Given the description of an element on the screen output the (x, y) to click on. 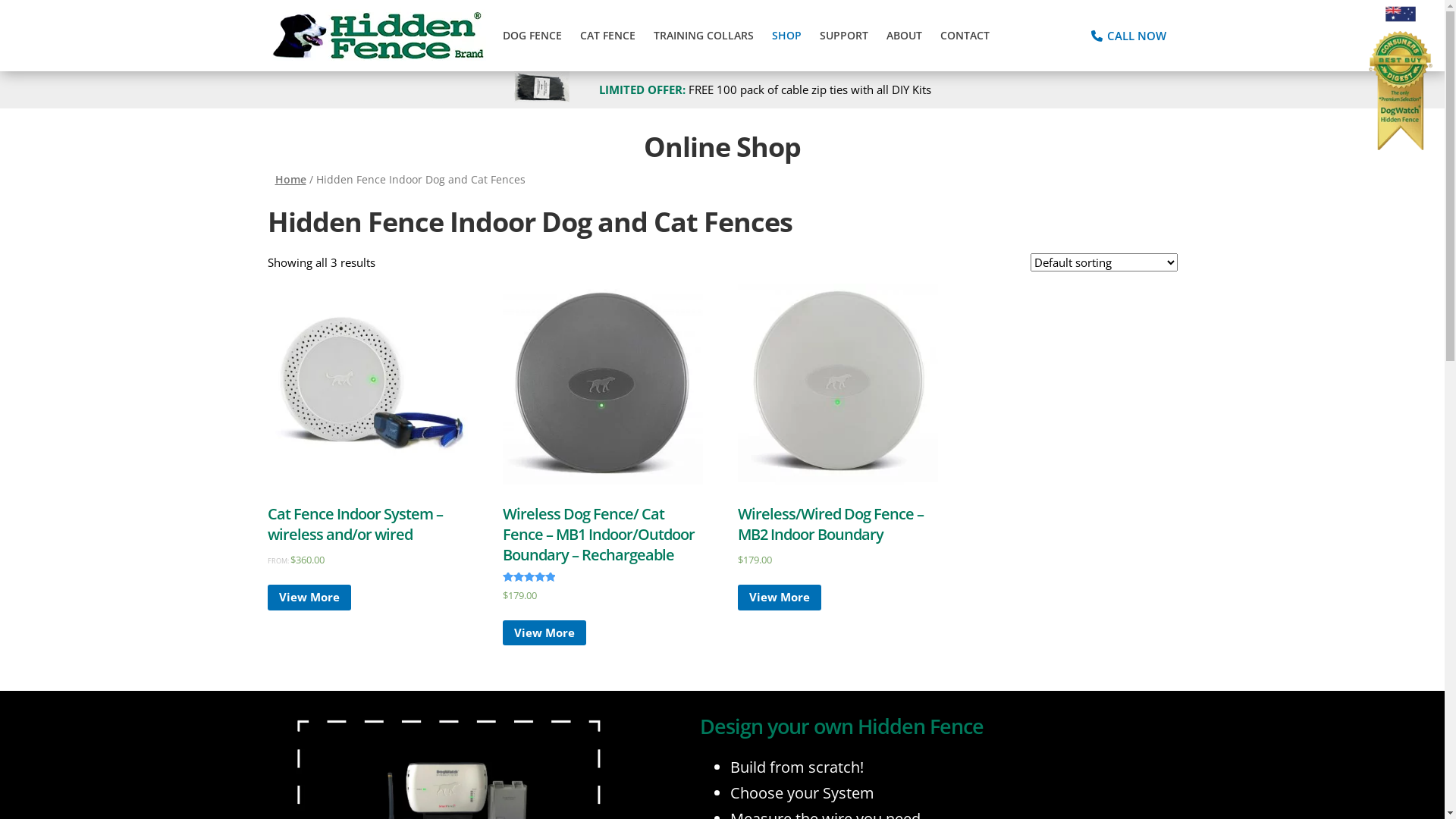
View More Element type: text (308, 597)
CALL NOW Element type: text (1127, 35)
CAT FENCE Element type: text (606, 35)
TRAINING COLLARS Element type: text (703, 35)
CONTACT Element type: text (964, 35)
DOG FENCE Element type: text (531, 35)
SUPPORT Element type: text (843, 35)
Home Element type: text (289, 178)
ABOUT Element type: text (903, 35)
SHOP Element type: text (786, 35)
View More Element type: text (544, 633)
View More Element type: text (779, 597)
